Given the description of an element on the screen output the (x, y) to click on. 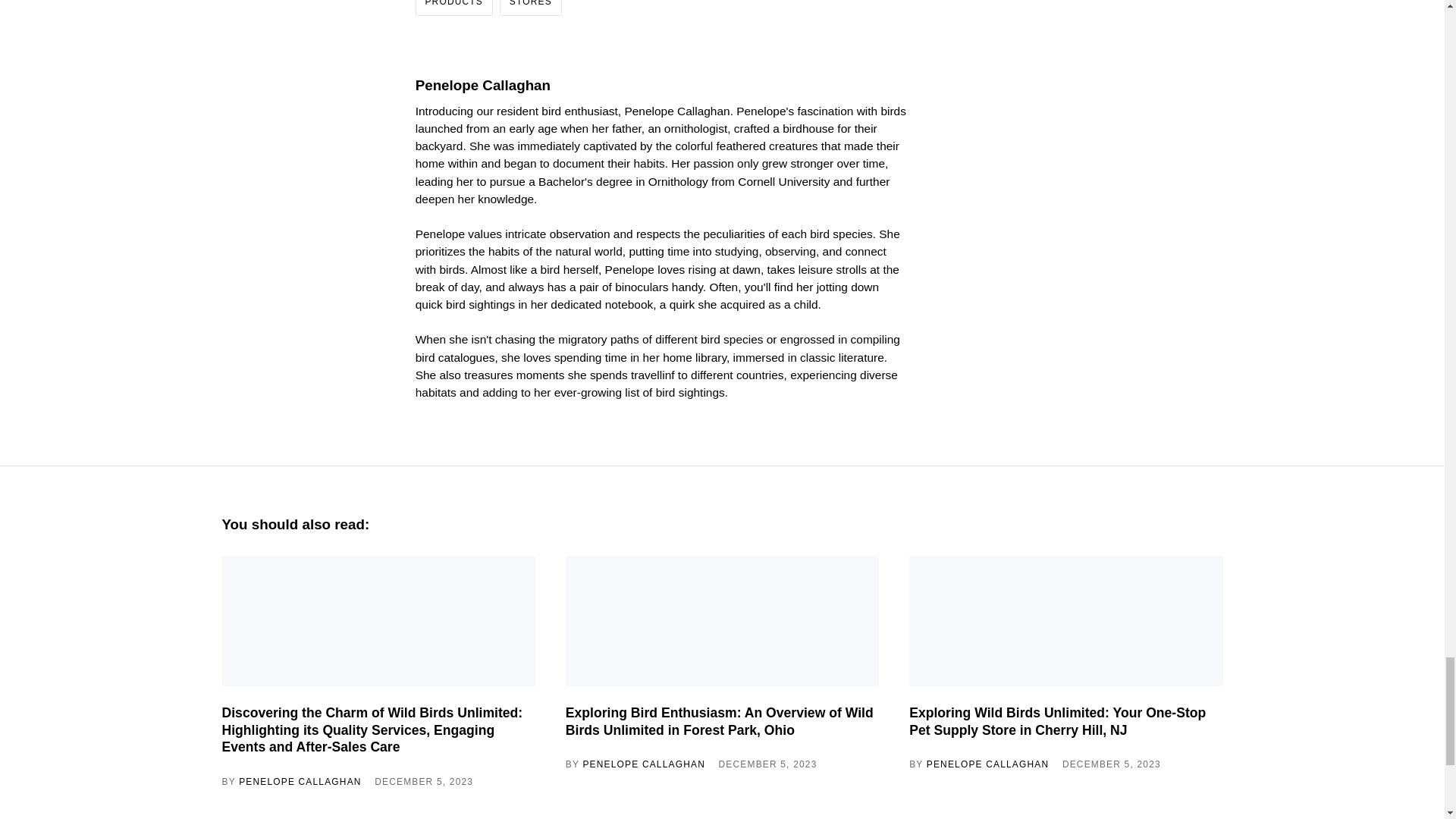
Penelope Callaghan (482, 84)
PENELOPE CALLAGHAN (987, 764)
PENELOPE CALLAGHAN (643, 764)
PRODUCTS (453, 7)
STORES (529, 7)
PENELOPE CALLAGHAN (299, 781)
